Given the description of an element on the screen output the (x, y) to click on. 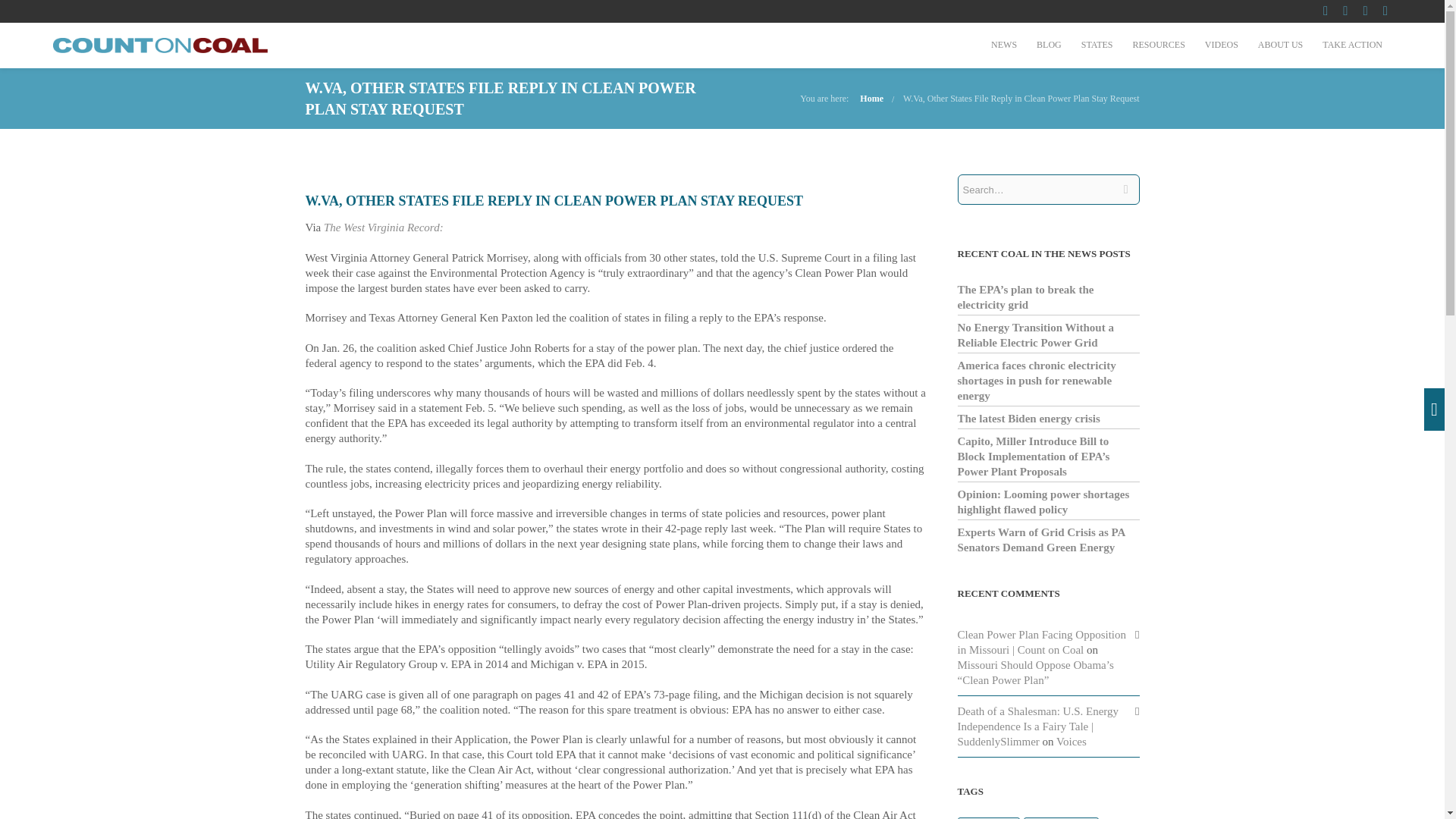
NEWS (1003, 44)
RESOURCES (1157, 44)
The West Virginia Record: (383, 227)
Permanent Link to The latest Biden energy crisis (1027, 418)
No Energy Transition Without a Reliable Electric Power Grid (1034, 334)
ABOUT US (1280, 44)
TAKE ACTION (1352, 44)
Opinion: Looming power shortages highlight flawed policy (1042, 501)
BLOG (1048, 44)
VIDEOS (1221, 44)
